Given the description of an element on the screen output the (x, y) to click on. 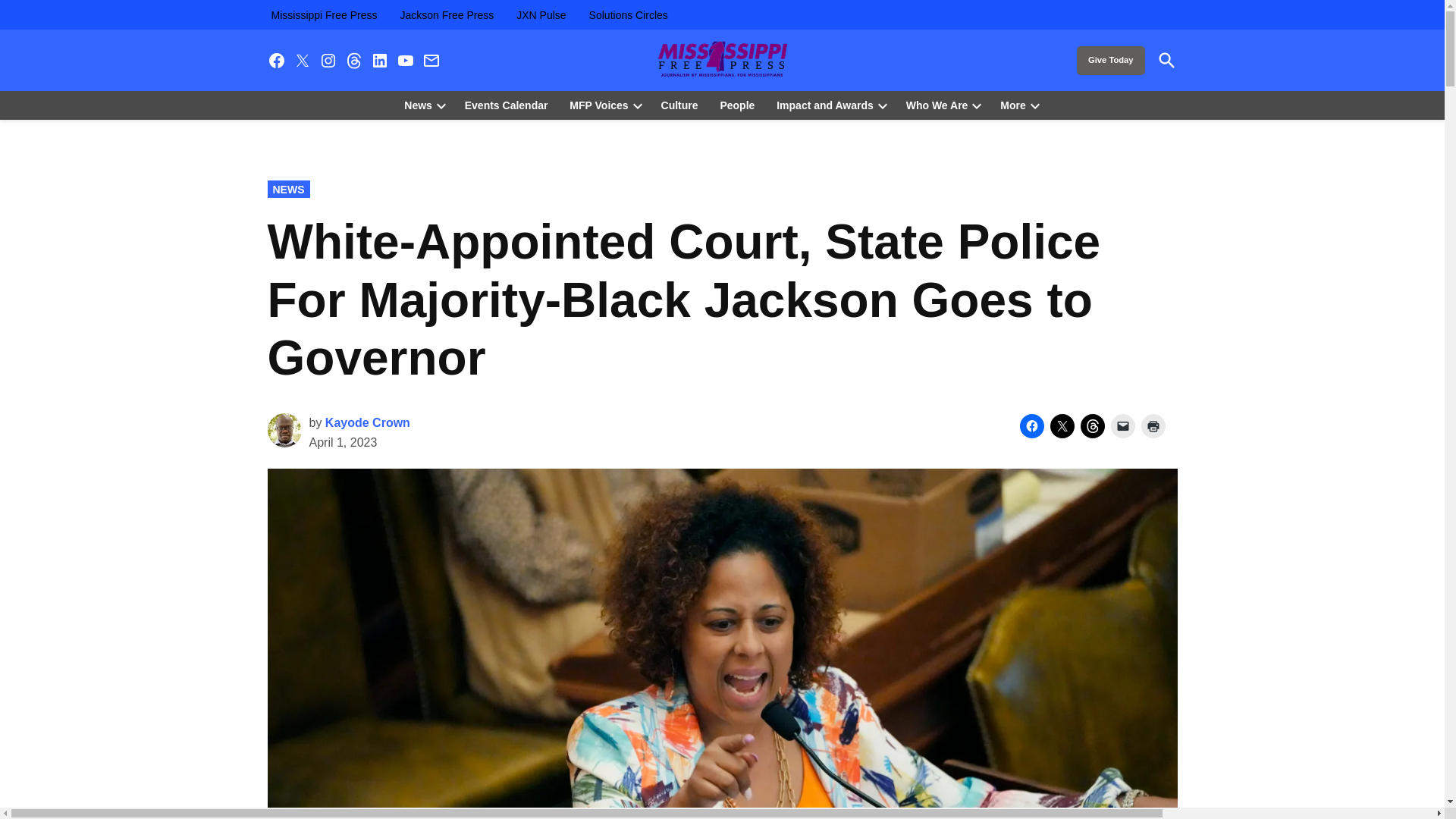
Click to share on X (1061, 426)
Click to print (1152, 426)
Click to email a link to a friend (1121, 426)
Click to share on Threads (1091, 426)
Click to share on Facebook (1031, 426)
